Given the description of an element on the screen output the (x, y) to click on. 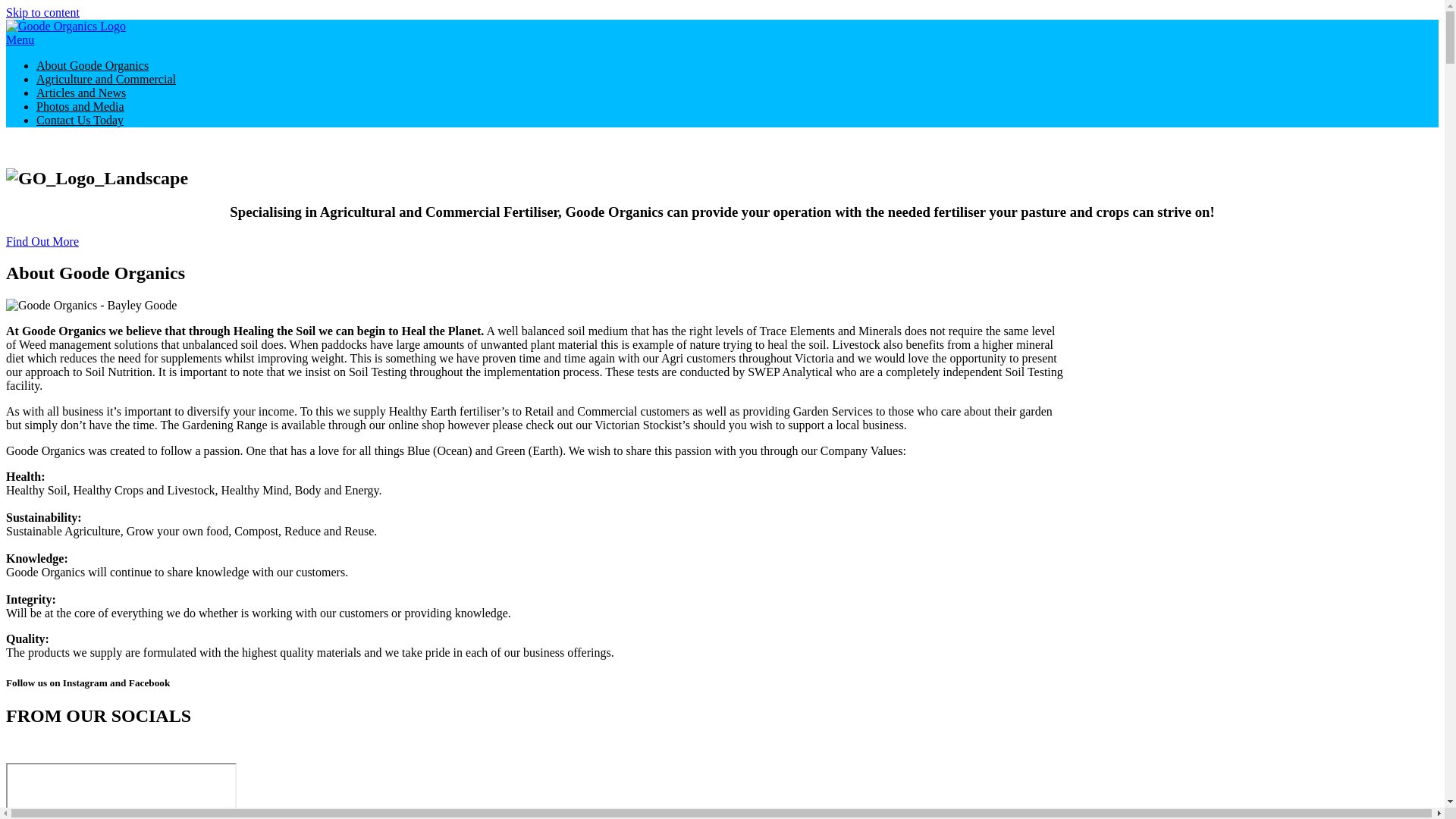
Articles and News Element type: text (80, 92)
Skip to content Element type: text (42, 12)
Agriculture and Commercial Element type: text (105, 78)
Contact Us Today Element type: text (86, 119)
Menu Element type: text (20, 39)
Photos and Media Element type: text (80, 106)
About Goode Organics Element type: text (92, 65)
Find Out More Element type: text (42, 241)
